Given the description of an element on the screen output the (x, y) to click on. 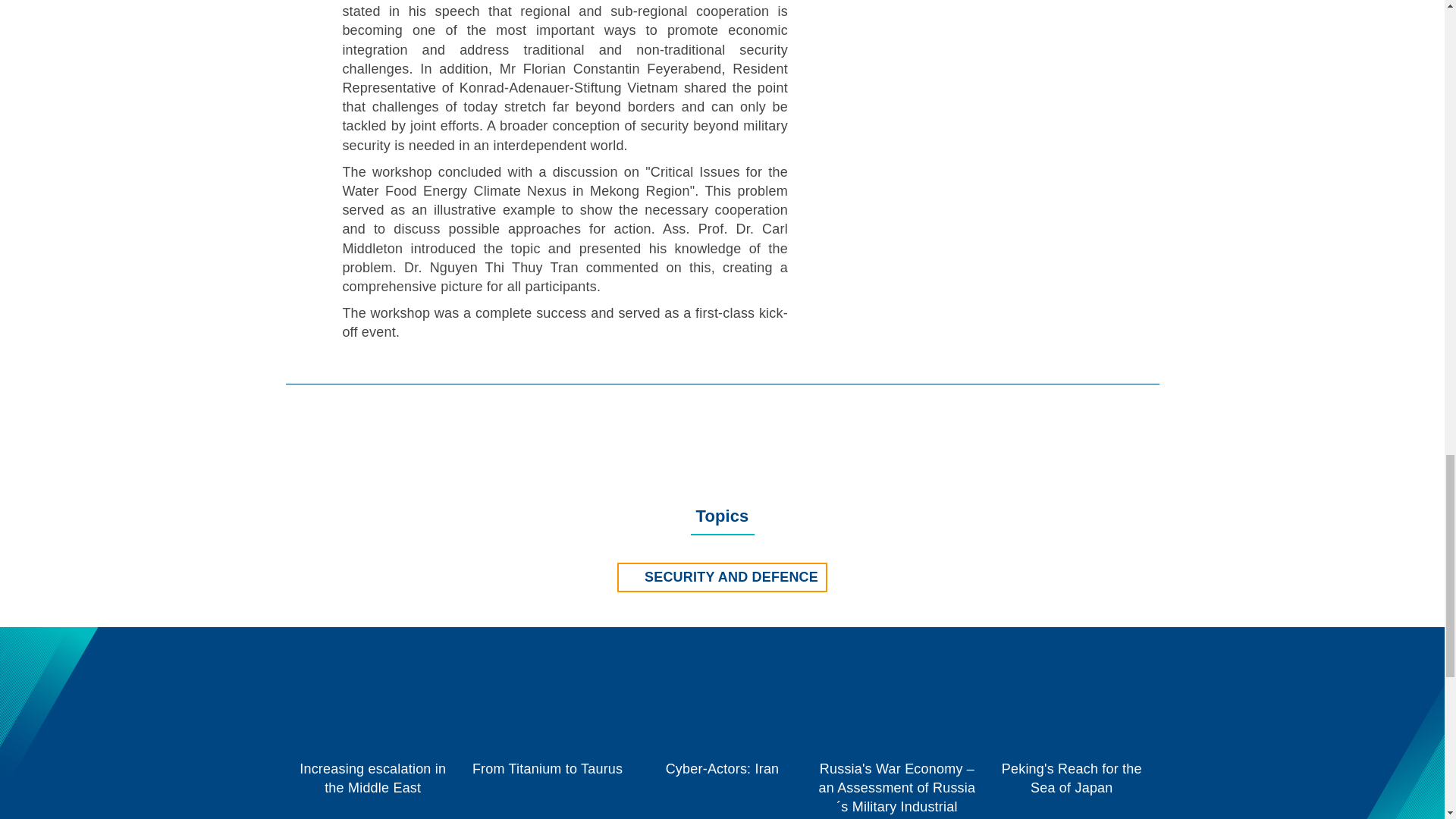
Increasing escalation in the Middle East (372, 732)
Cyber-Actors: Iran (721, 732)
From Titanium to Taurus (547, 732)
